Given the description of an element on the screen output the (x, y) to click on. 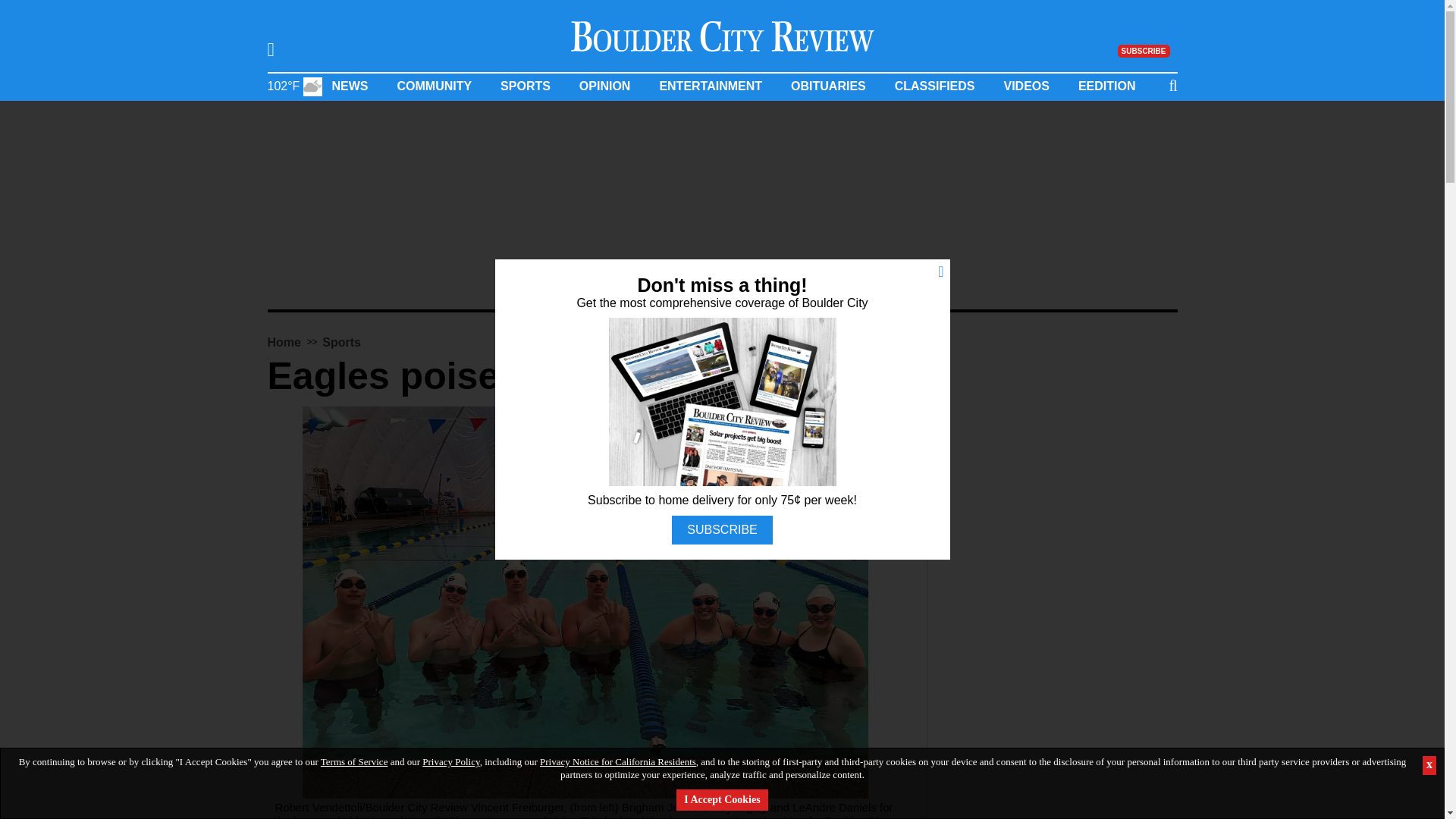
SUBSCRIBE (1144, 50)
Weather Forecast (293, 84)
VIDEOS (1025, 85)
OBITUARIES (828, 85)
OPINION (604, 85)
EEDITION (1106, 85)
NEWS (349, 85)
ENTERTAINMENT (710, 85)
SPORTS (525, 85)
CLASSIFIEDS (935, 85)
COMMUNITY (433, 85)
rj-logo (721, 36)
